Given the description of an element on the screen output the (x, y) to click on. 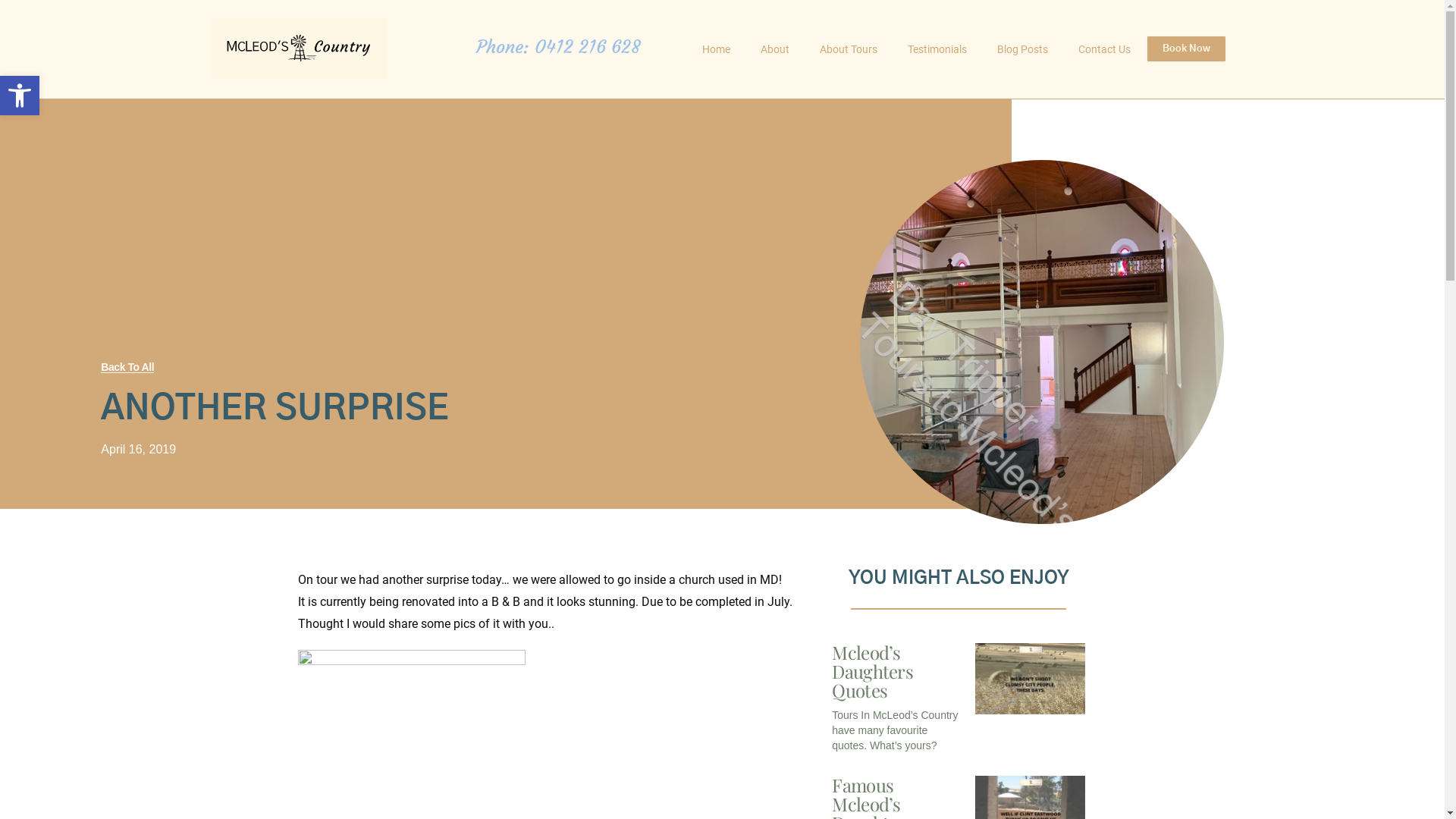
About Tours Element type: text (847, 48)
Testimonials Element type: text (936, 48)
Phone: 0412 216 628 Element type: text (558, 46)
Open toolbar
Accessibility Tools Element type: text (19, 95)
About Element type: text (773, 48)
Book Now Element type: text (1185, 48)
Contact Us Element type: text (1104, 48)
Blog Posts Element type: text (1021, 48)
Back To All Element type: text (126, 367)
Home Element type: text (716, 48)
